Given the description of an element on the screen output the (x, y) to click on. 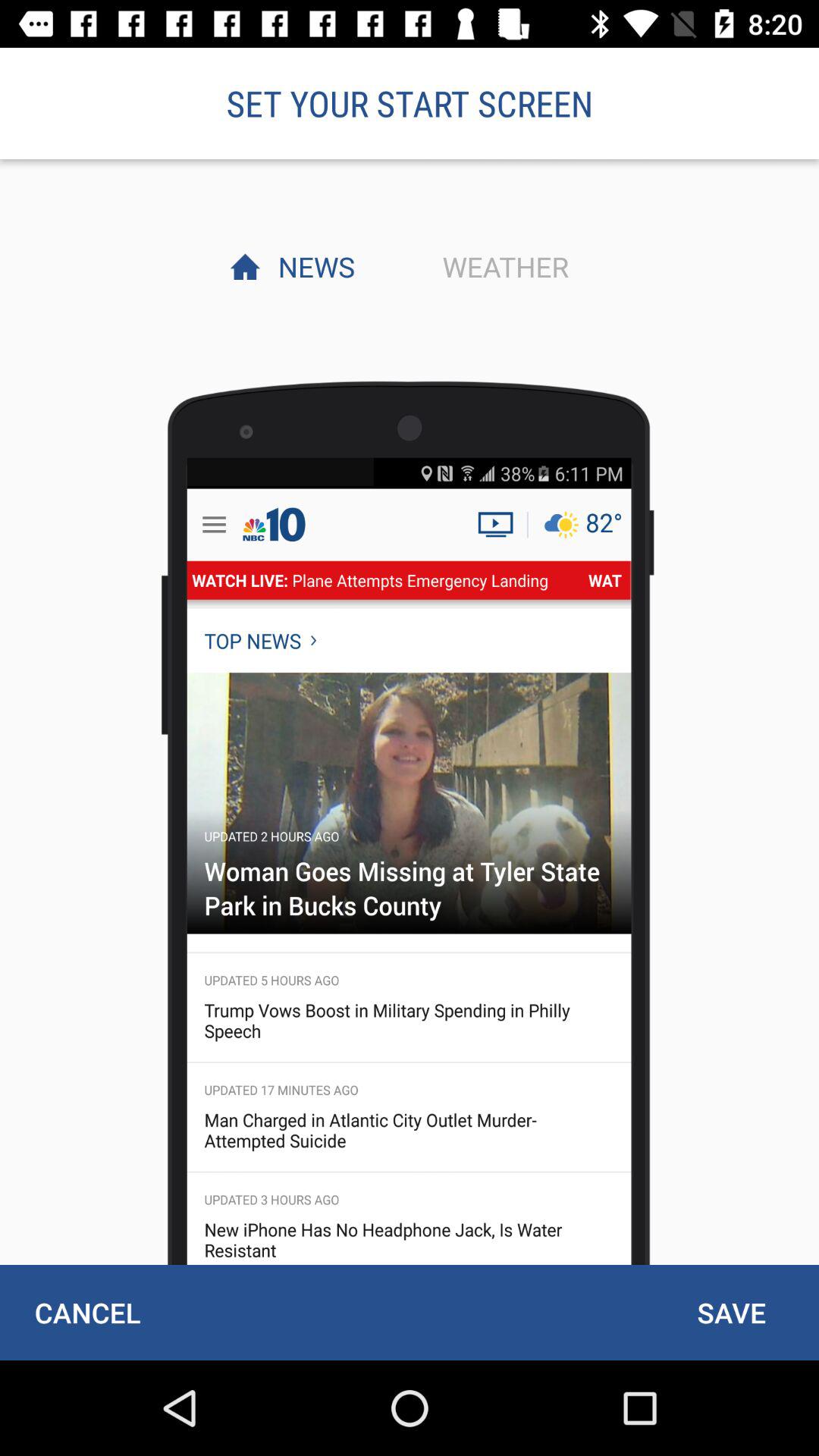
launch the save at the bottom right corner (731, 1312)
